Given the description of an element on the screen output the (x, y) to click on. 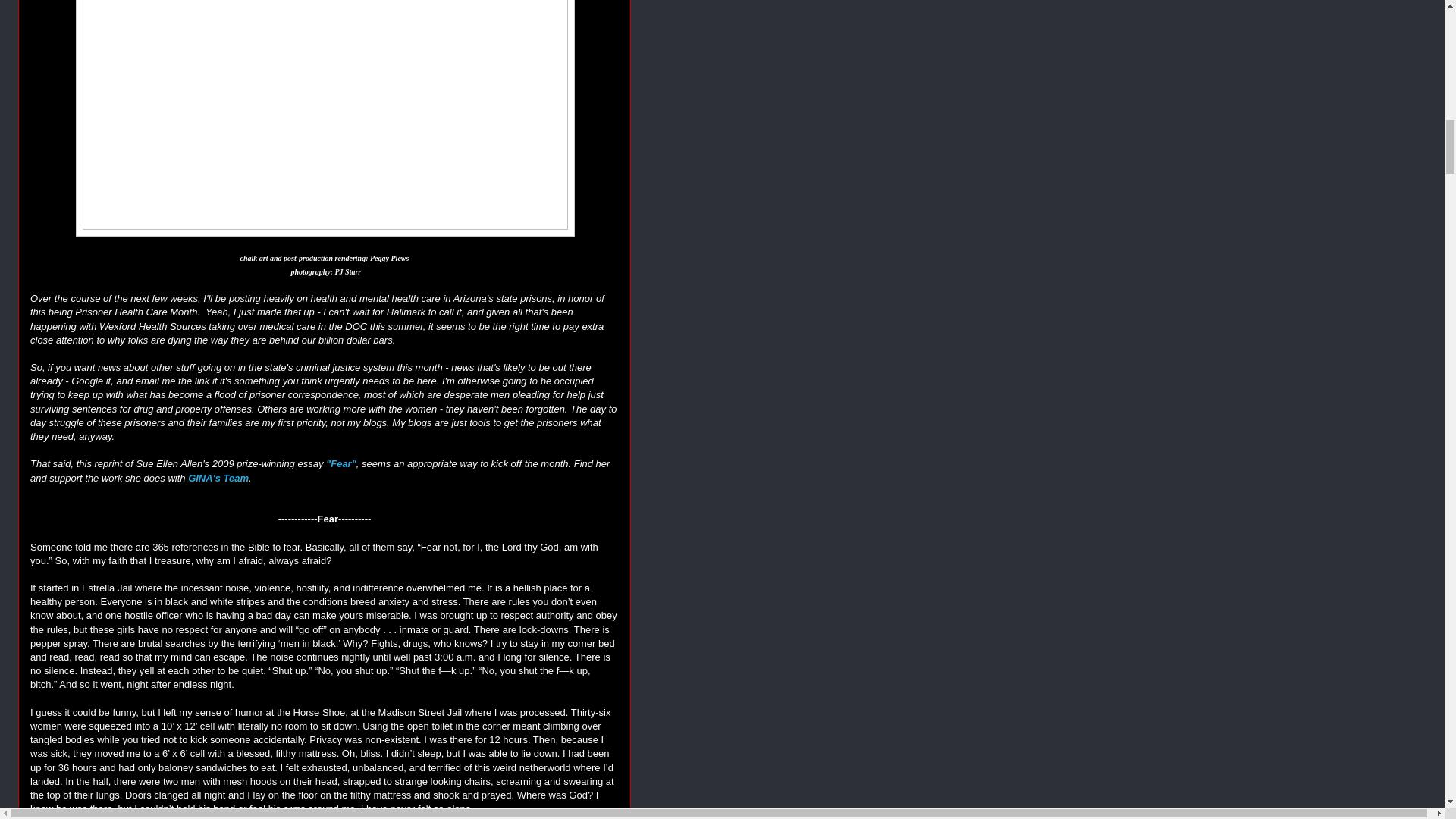
GINA's Team (217, 478)
"Fear" (341, 463)
